Given the description of an element on the screen output the (x, y) to click on. 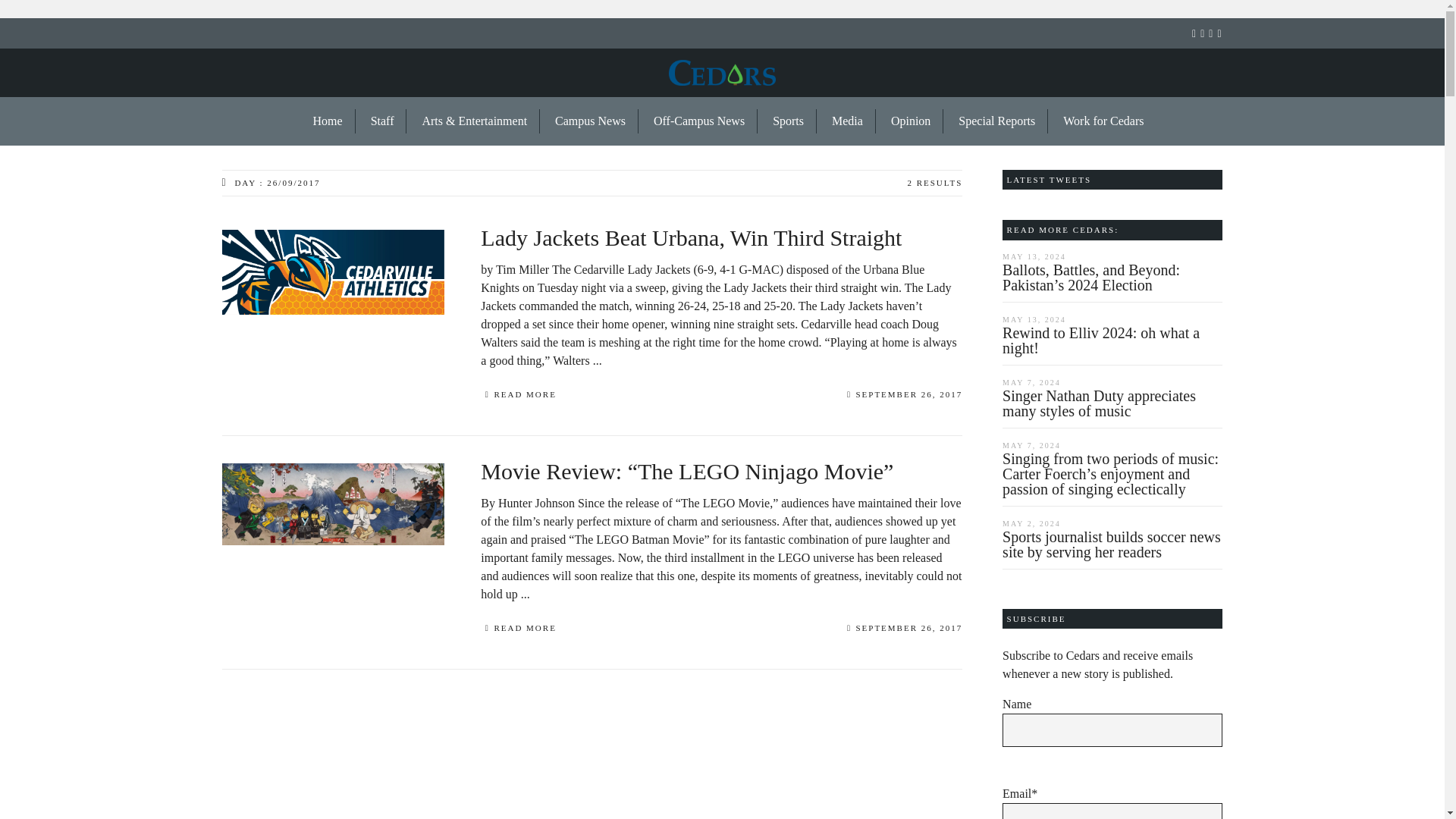
Campus News (591, 120)
Opinion (911, 120)
Home (328, 120)
Staff (382, 120)
Special Reports (997, 120)
Sports (788, 120)
Media (847, 120)
Work for Cedars (1096, 120)
Off-Campus News (699, 120)
